Given the description of an element on the screen output the (x, y) to click on. 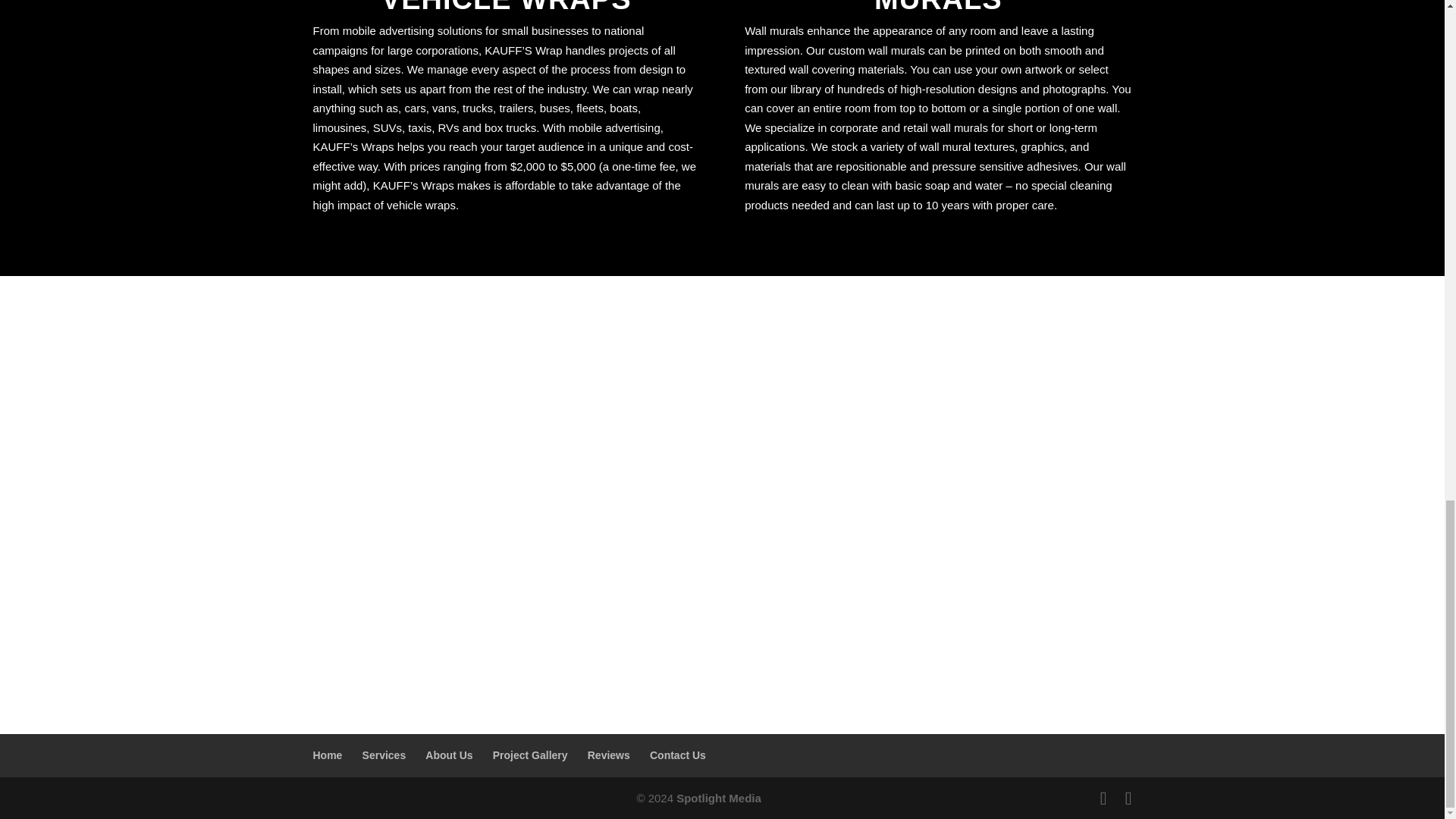
Home (327, 755)
Spotlight Media (719, 797)
About Us (448, 755)
Services (384, 755)
